Given the description of an element on the screen output the (x, y) to click on. 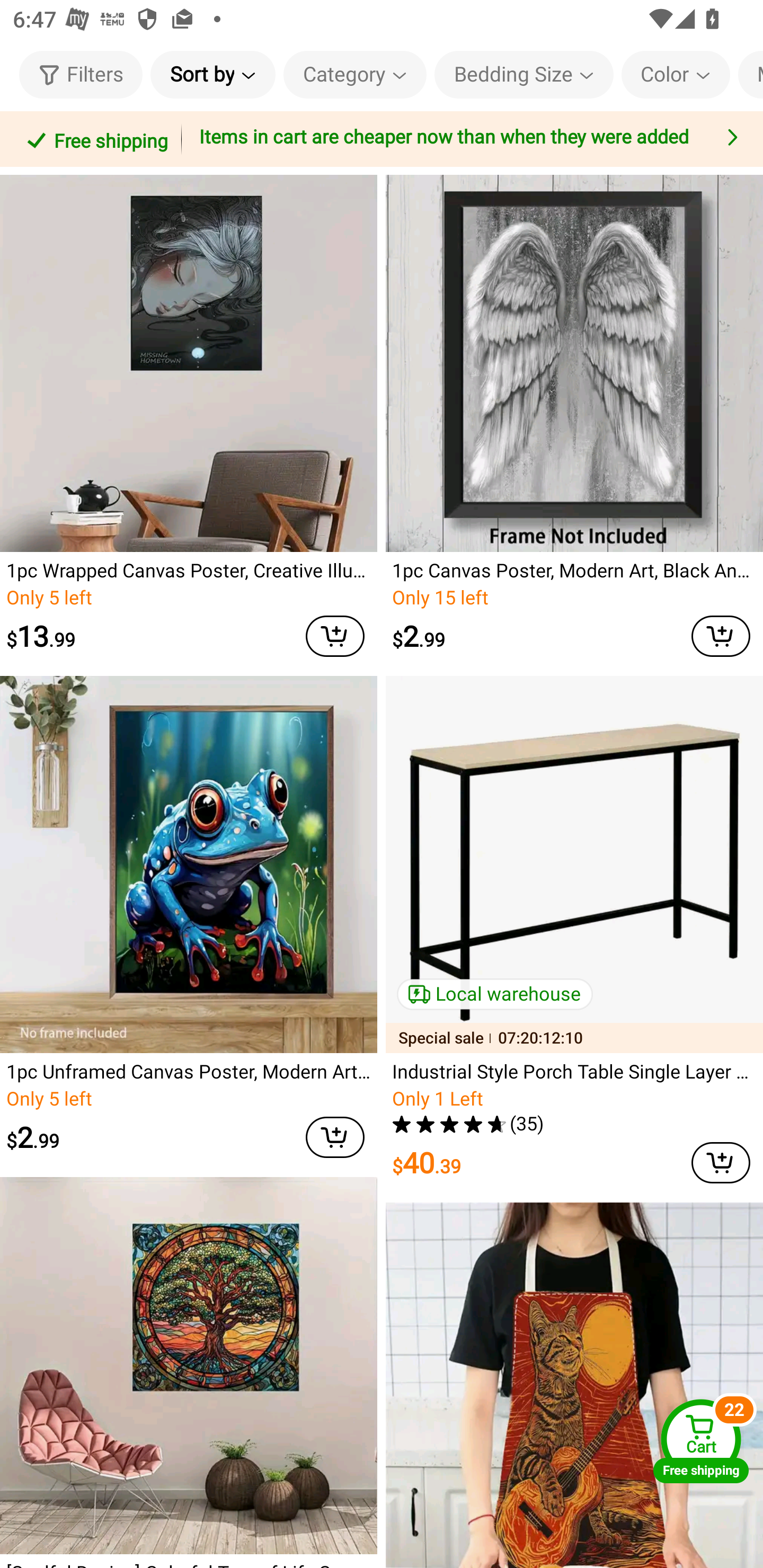
Filters (80, 74)
Sort by (212, 74)
Category (354, 74)
Bedding Size (523, 74)
Color (675, 74)
 Free shipping (93, 138)
cart delete (334, 636)
cart delete (720, 636)
cart delete (334, 1137)
cart delete (720, 1162)
Cart Free shipping Cart (701, 1440)
